Given the description of an element on the screen output the (x, y) to click on. 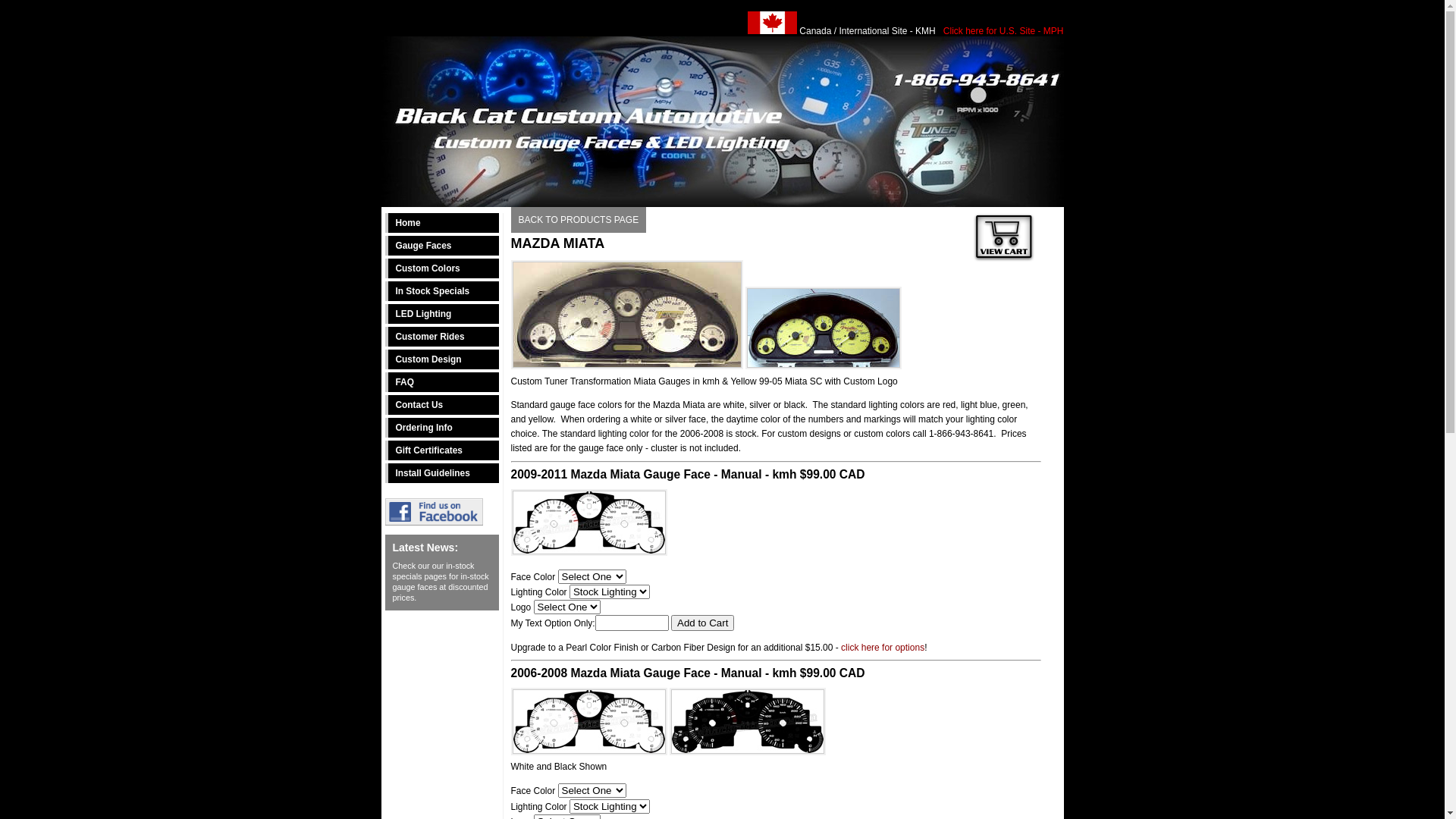
LED Lighting Element type: text (441, 313)
Custom Colors Element type: text (441, 268)
Custom Design Element type: text (441, 359)
Ordering Info Element type: text (441, 427)
Add to Cart Element type: text (702, 622)
Install Guidelines Element type: text (441, 473)
Home Element type: text (441, 222)
BACK TO PRODUCTS PAGE Element type: text (578, 219)
Gift Certificates Element type: text (441, 450)
In Stock Specials Element type: text (441, 291)
Contact Us Element type: text (441, 404)
FAQ Element type: text (441, 382)
Customer Rides Element type: text (441, 336)
click here for options Element type: text (882, 647)
Gauge Faces Element type: text (441, 245)
Click here for U.S. Site - MPH Element type: text (1003, 30)
